Given the description of an element on the screen output the (x, y) to click on. 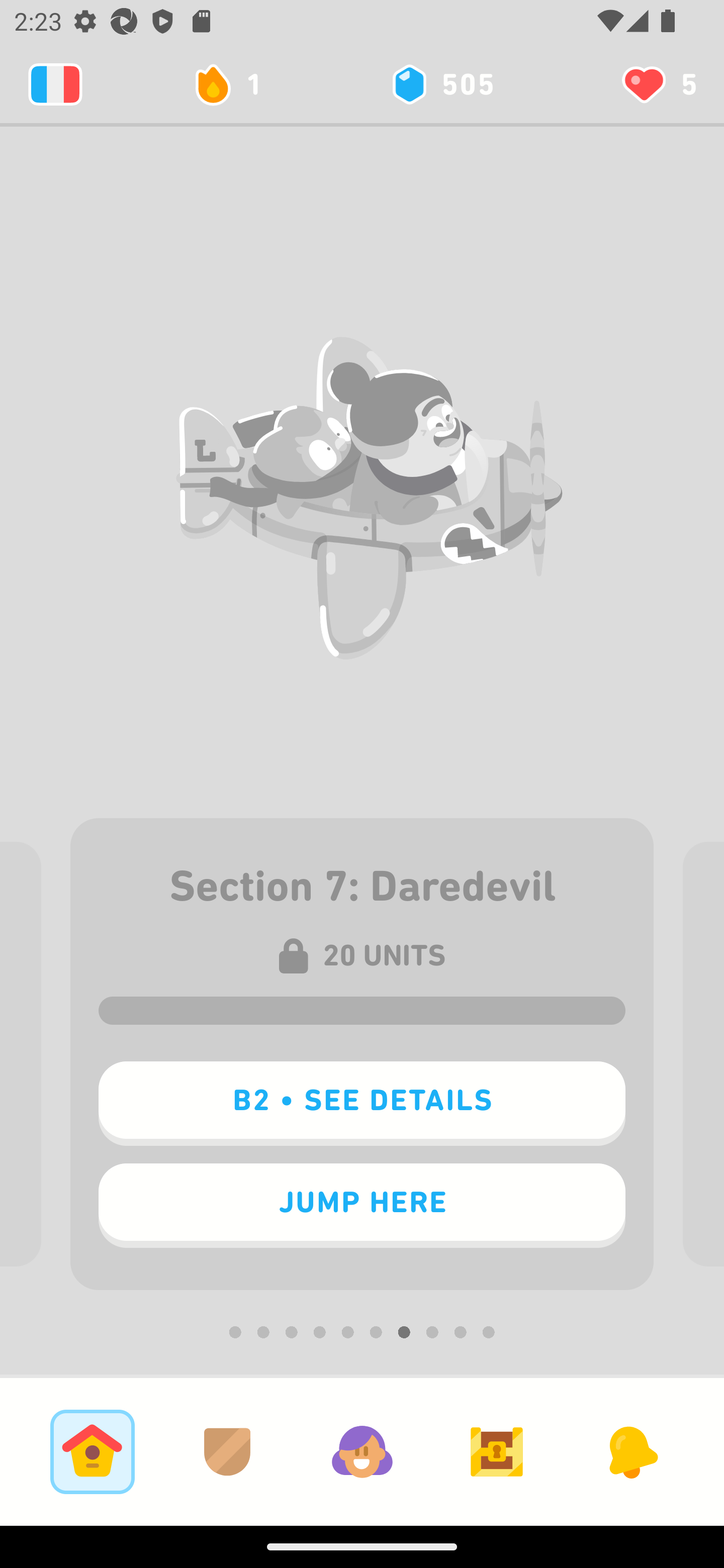
Learning 2131888976 (55, 84)
1 day streak 1 (236, 84)
505 (441, 84)
You have 5 hearts left 5 (657, 84)
B2 • SEE DETAILS (361, 1103)
JUMP HERE (361, 1205)
Learn Tab (91, 1451)
Leagues Tab (227, 1451)
Profile Tab (361, 1451)
Goals Tab (496, 1451)
News Tab (631, 1451)
